Given the description of an element on the screen output the (x, y) to click on. 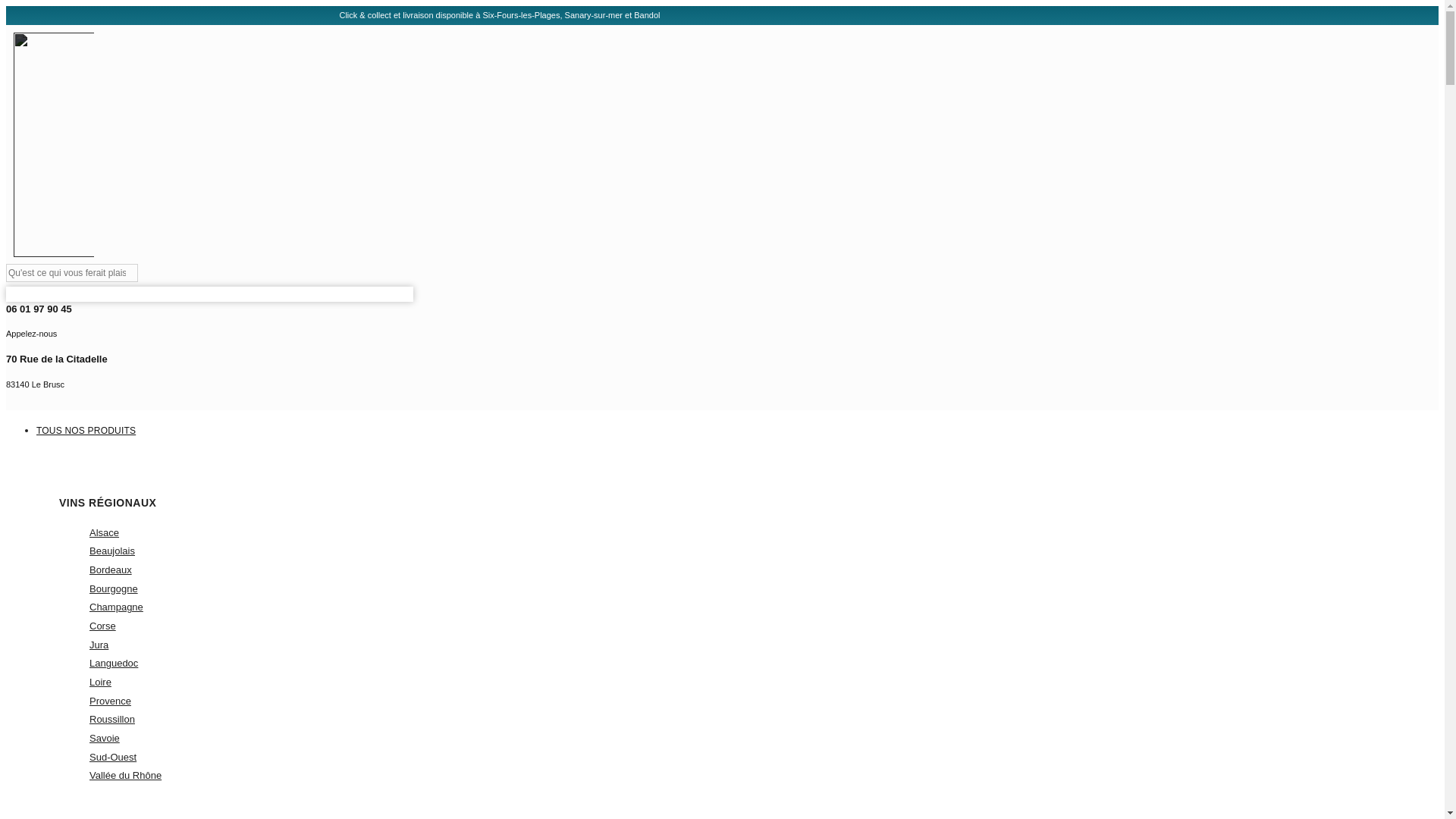
Jura (97, 644)
Alsace (103, 531)
Champagne (115, 606)
Corse (479, 372)
TOUS NOS PRODUITS (102, 625)
Languedoc (400, 438)
Bourgogne (113, 663)
Beaujolais (113, 588)
Provence (111, 550)
